Given the description of an element on the screen output the (x, y) to click on. 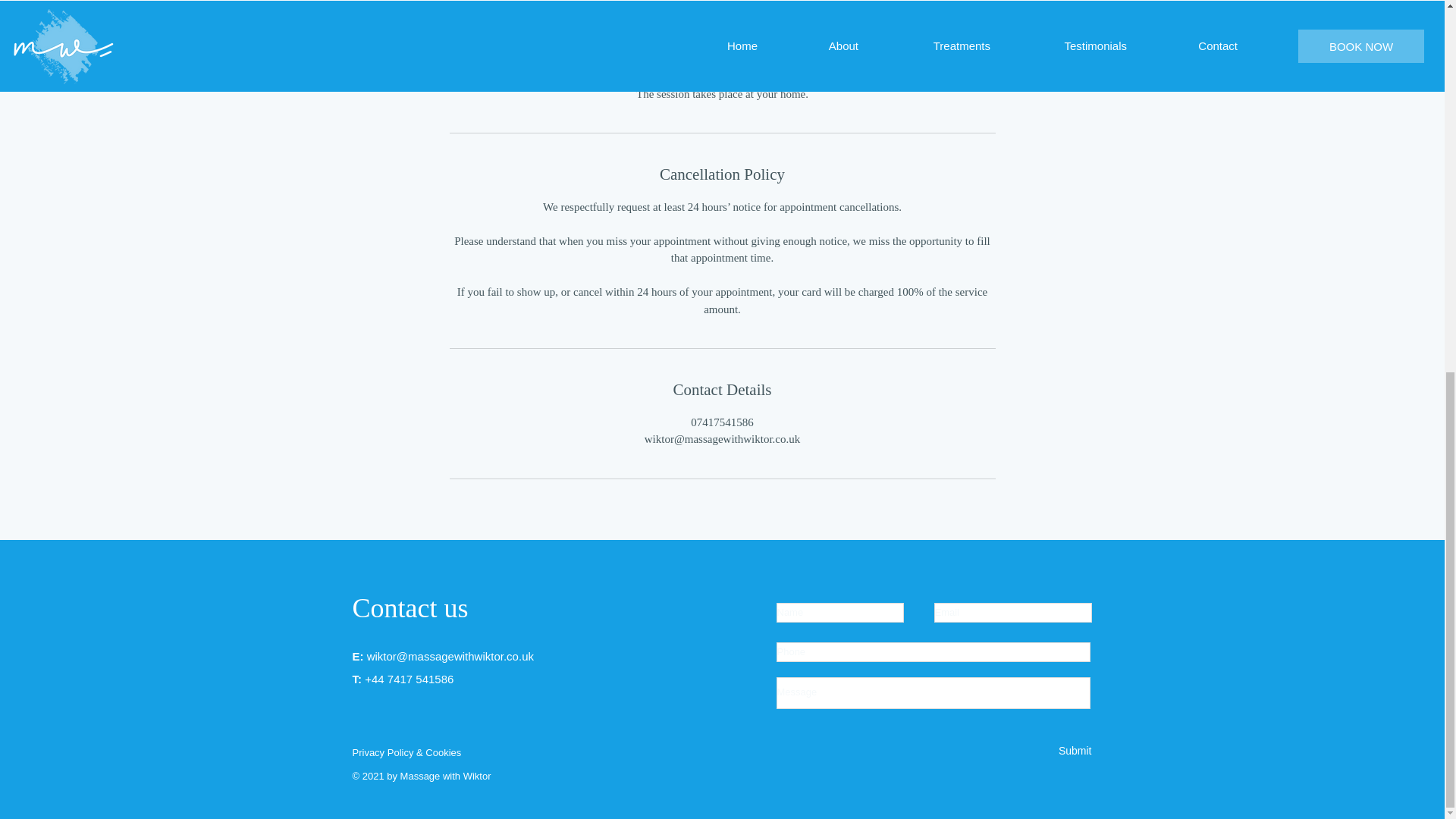
Massage with Wiktor (446, 776)
Submit (1055, 751)
